Given the description of an element on the screen output the (x, y) to click on. 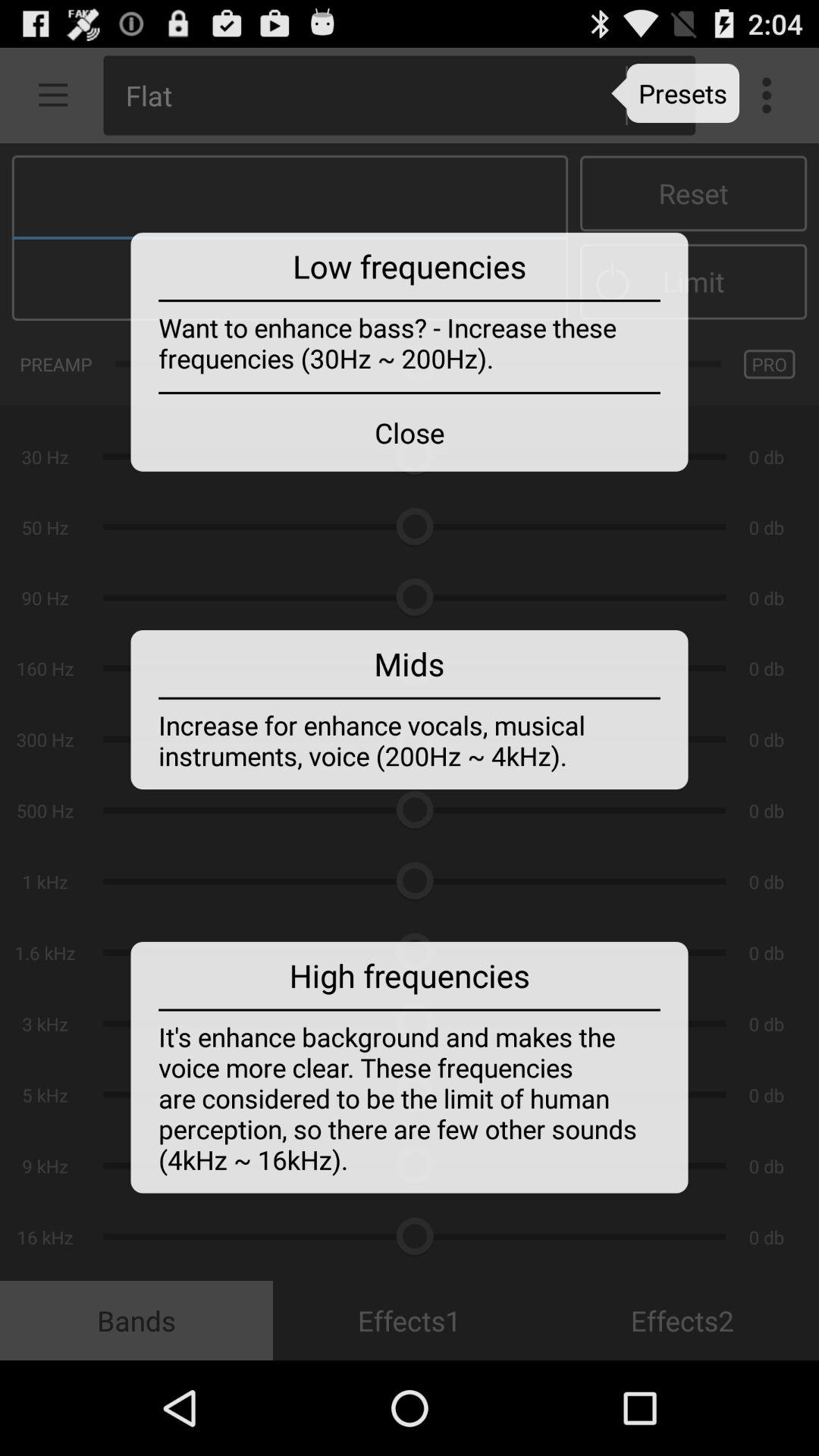
press icon below the want to enhance item (409, 432)
